Given the description of an element on the screen output the (x, y) to click on. 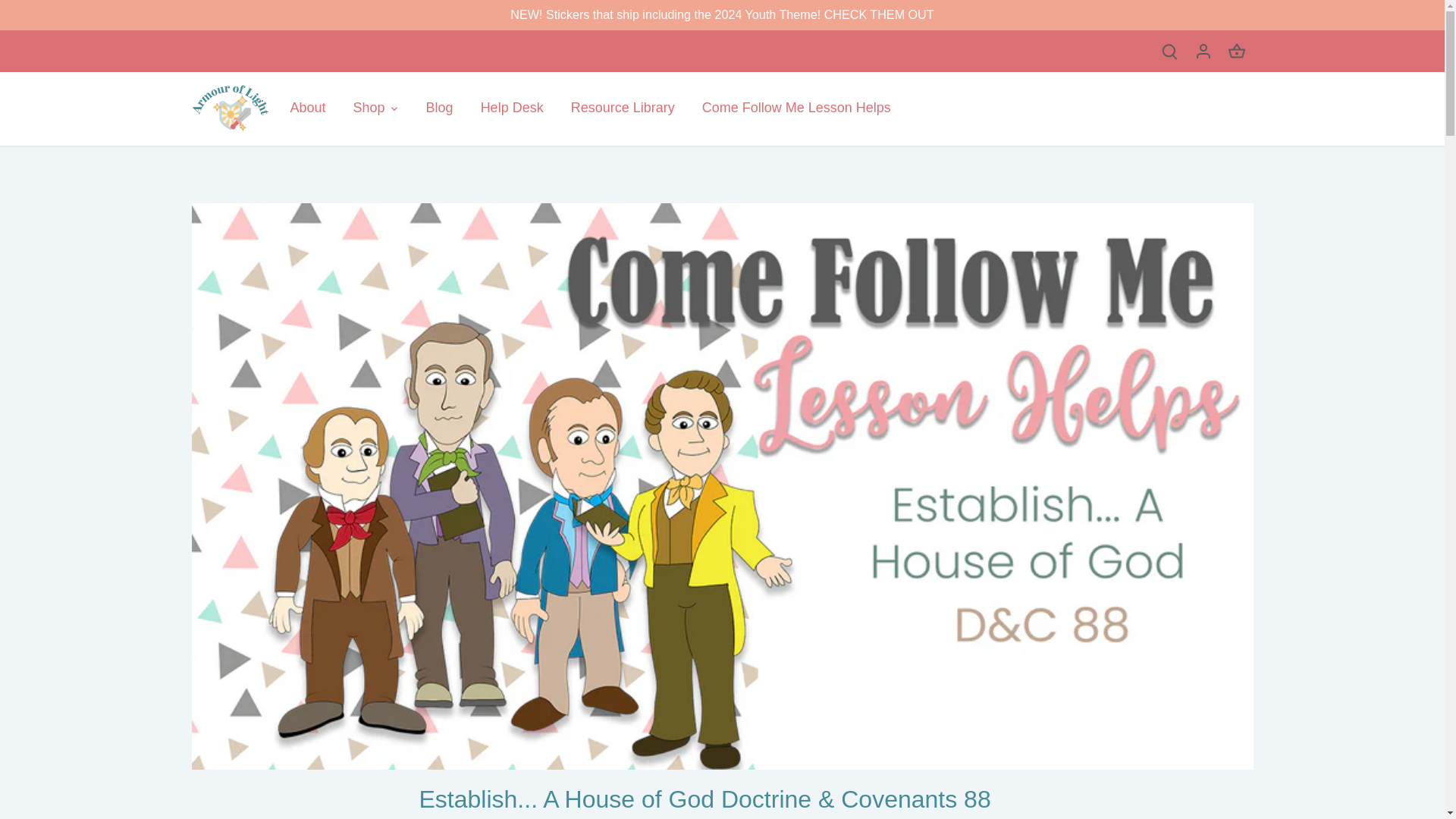
Shop (368, 108)
Go to cart (1235, 51)
Come Follow Me Lesson Helps (796, 108)
About (314, 108)
Help Desk (512, 108)
Blog (439, 108)
Resource Library (622, 108)
